Given the description of an element on the screen output the (x, y) to click on. 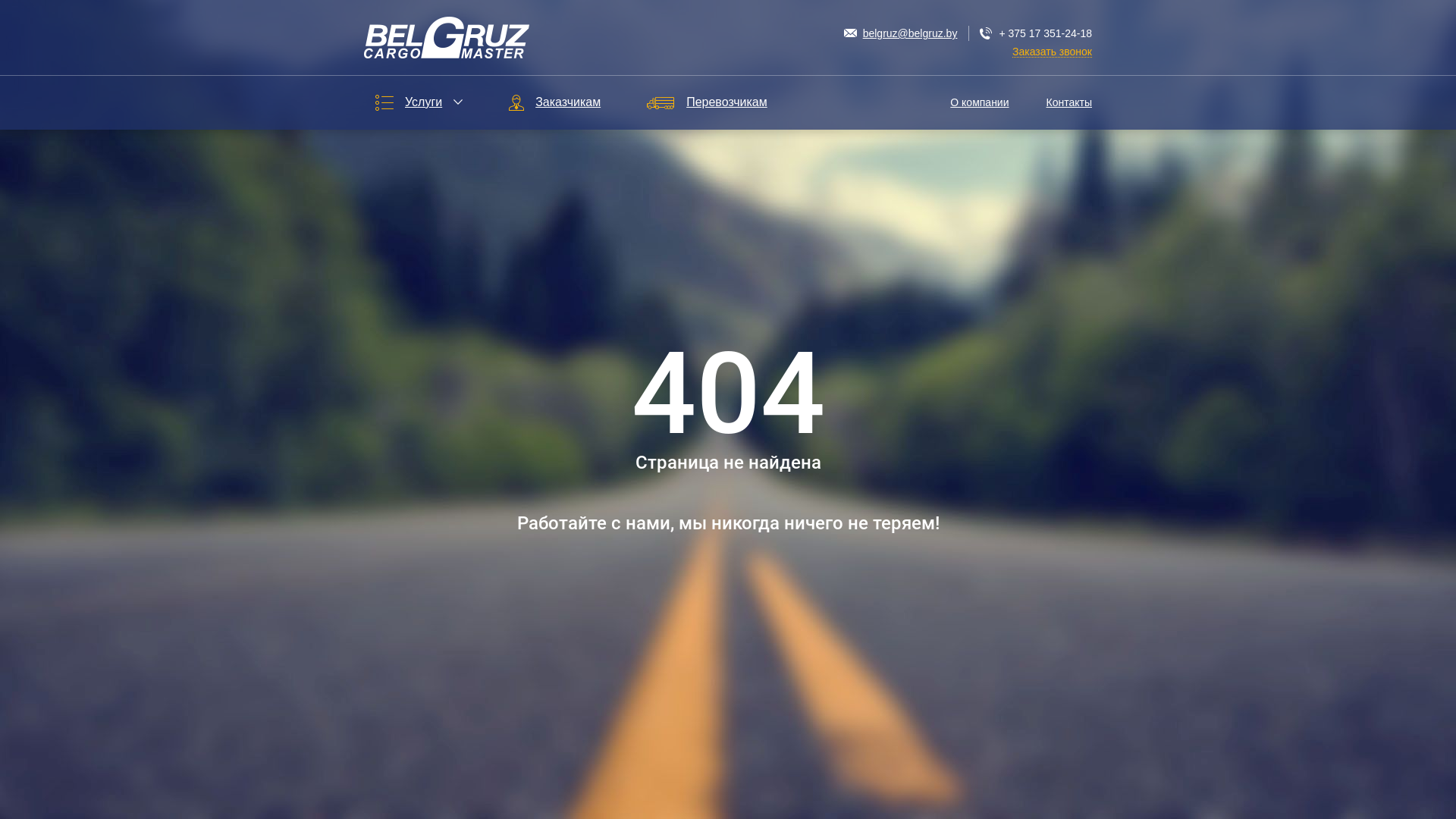
belgruz@belgruz.by Element type: text (900, 32)
+ 375 17 351-24-18 Element type: text (1035, 32)
